Given the description of an element on the screen output the (x, y) to click on. 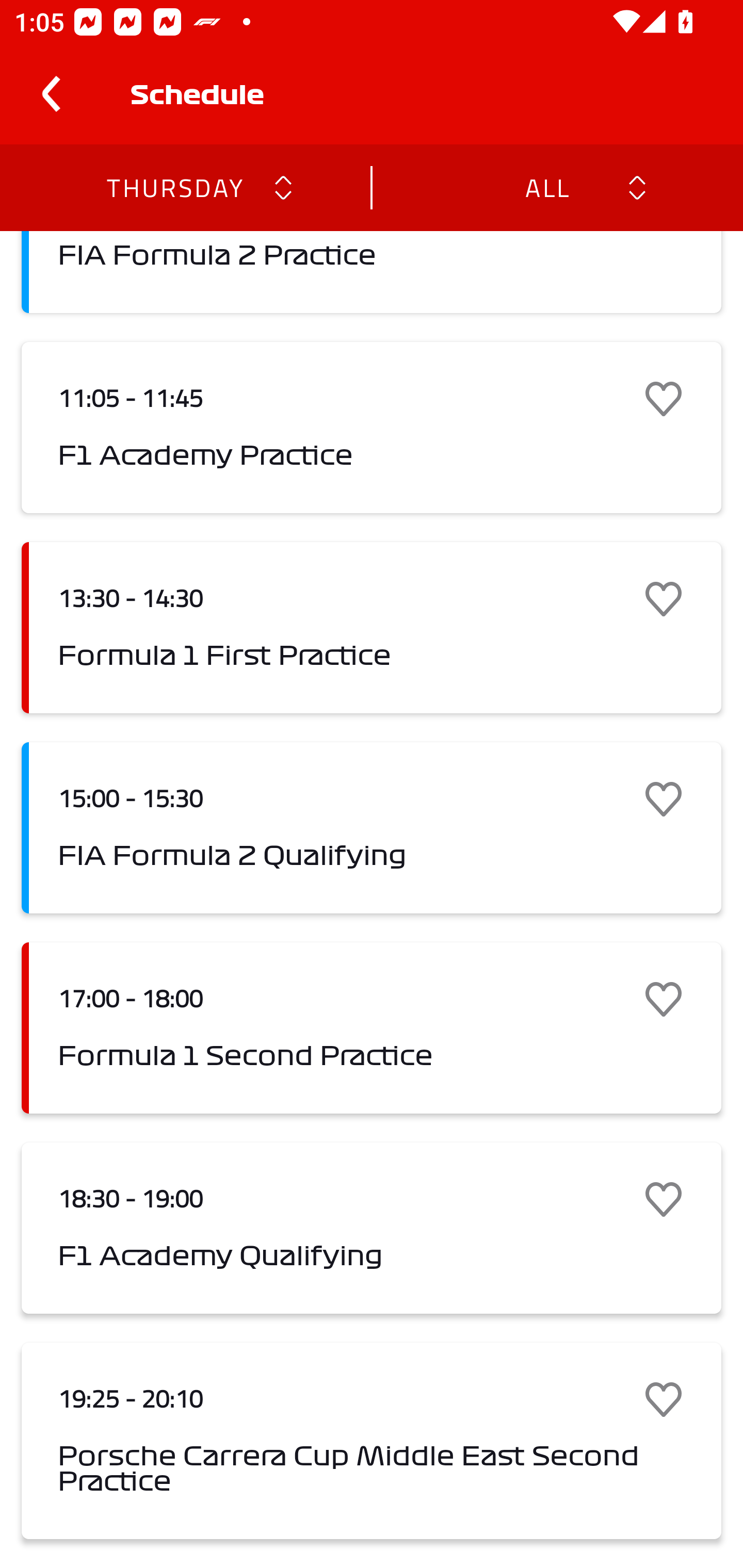
Navigate up (50, 93)
THURSDAY (174, 187)
ALL (546, 187)
FIA Formula 2 Practice (371, 271)
11:05 - 11:45 F1 Academy Practice (371, 426)
13:30 - 14:30 Formula 1 First Practice (371, 627)
15:00 - 15:30 FIA Formula 2 Qualifying (371, 827)
17:00 - 18:00 Formula 1 Second Practice (371, 1027)
18:30 - 19:00 F1 Academy Qualifying (371, 1228)
